Given the description of an element on the screen output the (x, y) to click on. 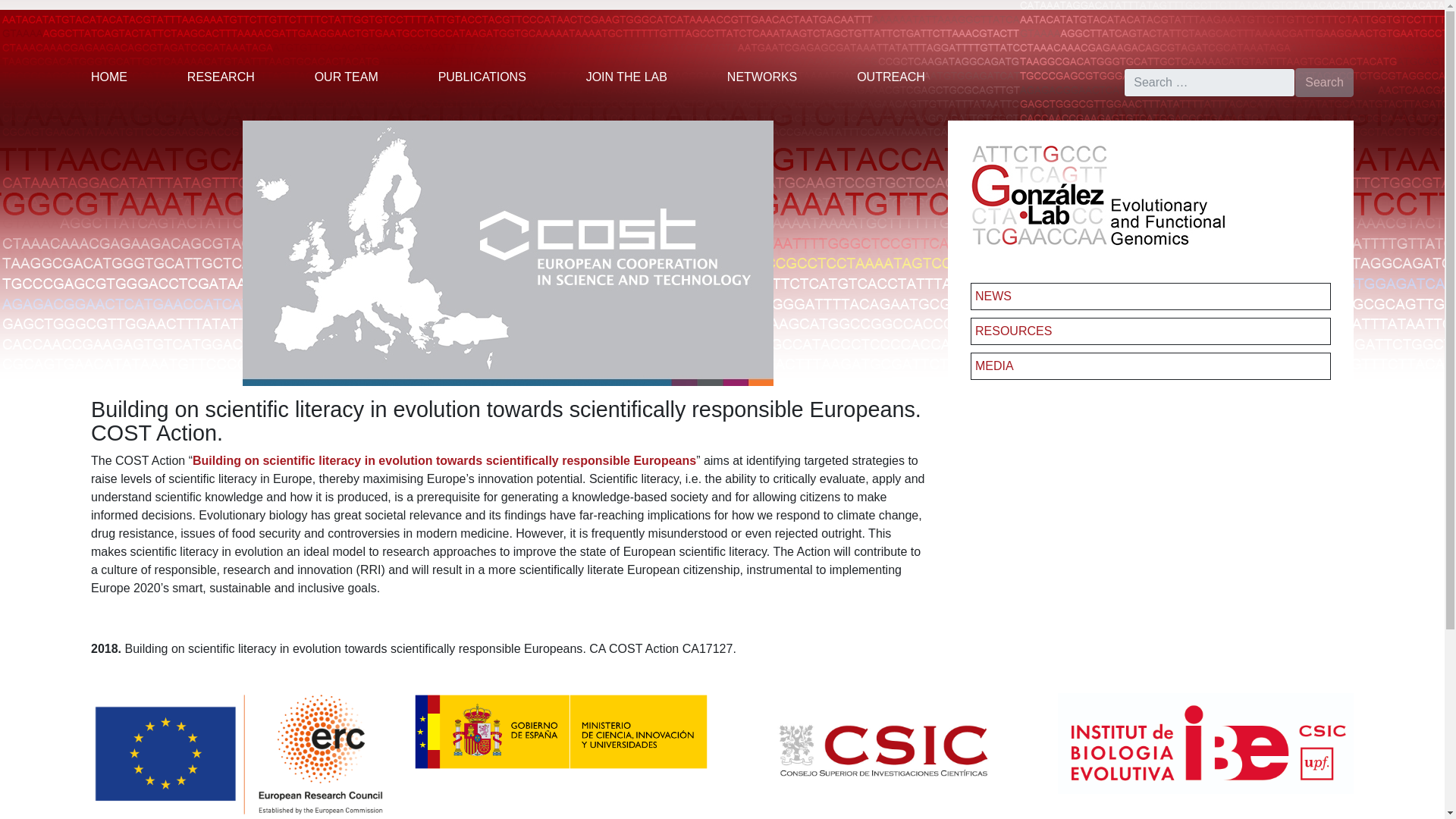
HOME (109, 76)
NETWORKS (761, 76)
RESOURCES (1013, 330)
OUTREACH (890, 76)
Search (1324, 82)
JOIN THE LAB (626, 76)
OUR TEAM (346, 76)
MEDIA (994, 365)
NEWS (993, 295)
